Given the description of an element on the screen output the (x, y) to click on. 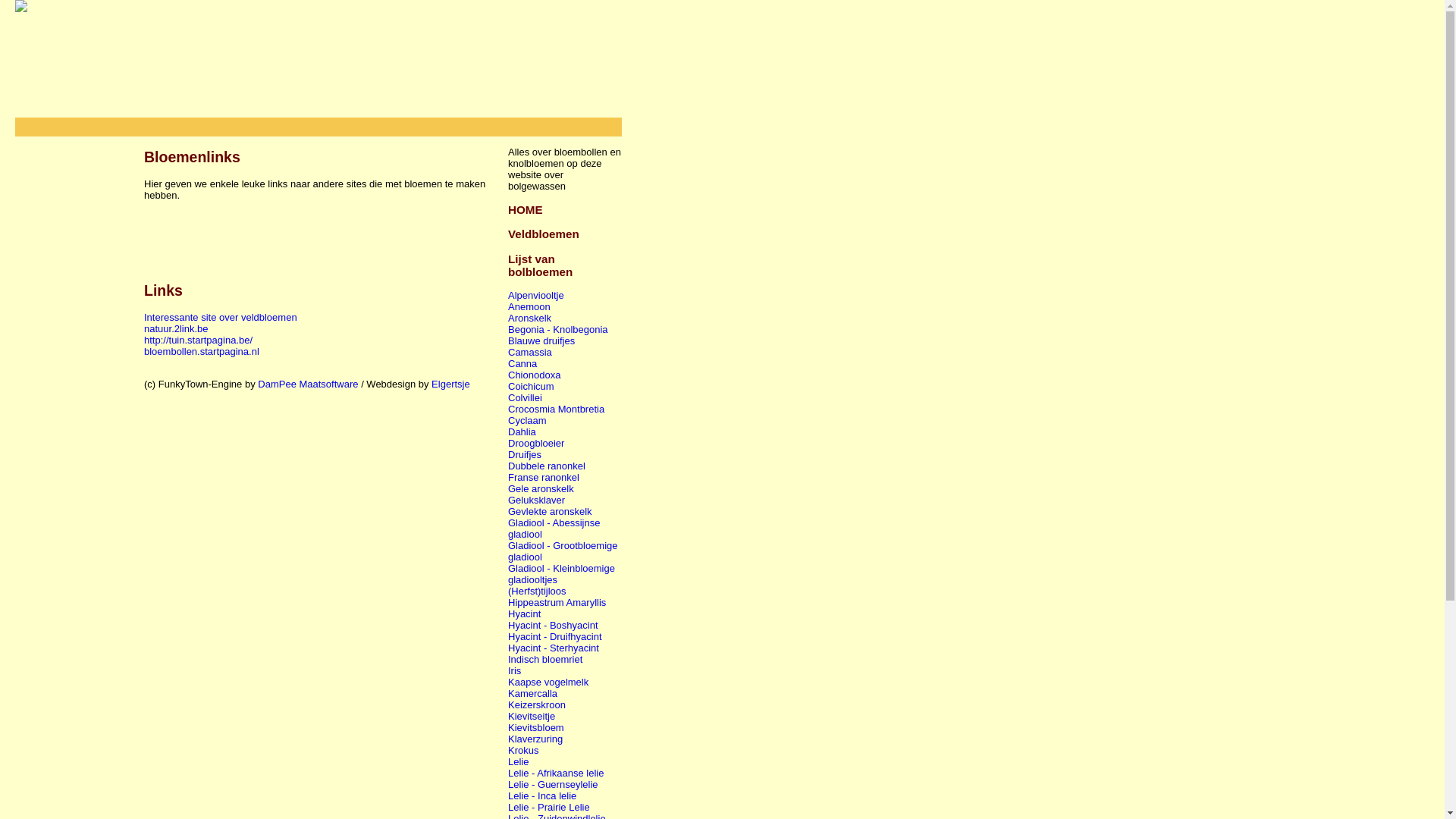
Franse ranonkel Element type: text (543, 477)
natuur.2link.be Element type: text (176, 328)
Elgertsje Element type: text (450, 383)
Klaverzuring Element type: text (535, 738)
Advertisement Element type: hover (321, 234)
Druifjes Element type: text (524, 454)
Gevlekte aronskelk Element type: text (550, 511)
DamPee Maatsoftware Element type: text (307, 383)
Begonia - Knolbegonia Element type: text (558, 329)
http://tuin.startpagina.be/ Element type: text (198, 339)
Keizerskroon Element type: text (536, 704)
Hippeastrum Amaryllis Element type: text (556, 602)
Hyacint - Boshyacint Element type: text (553, 624)
Droogbloeier Element type: text (536, 442)
Gladiool - Abessijnse gladiool Element type: text (553, 528)
Crocosmia Montbretia Element type: text (556, 408)
Gladiool - Kleinbloemige gladiooltjes Element type: text (561, 573)
Dahlia Element type: text (522, 431)
Hyacint - Druifhyacint Element type: text (555, 636)
Canna Element type: text (522, 363)
(Herfst)tijloos Element type: text (537, 590)
HOME Element type: text (525, 209)
Kievitseitje Element type: text (531, 715)
Geluksklaver Element type: text (536, 499)
Kaapse vogelmelk Element type: text (548, 681)
Camassia Element type: text (530, 351)
Krokus Element type: text (523, 750)
Iris Element type: text (514, 670)
Coichicum Element type: text (531, 386)
Blauwe druifjes Element type: text (541, 340)
Advertisement Element type: hover (75, 363)
Lelie - Prairie Lelie Element type: text (548, 806)
Alpenviooltje Element type: text (536, 295)
Interessante site over veldbloemen Element type: text (220, 317)
bloembollen.startpagina.nl Element type: text (201, 351)
Hyacint Element type: text (524, 613)
Veldbloemen Element type: text (543, 233)
Indisch bloemriet Element type: text (545, 659)
Kamercalla Element type: text (532, 693)
Advertisement Element type: hover (318, 122)
Gele aronskelk Element type: text (541, 488)
Aronskelk Element type: text (529, 317)
Lijst van bolbloemen Element type: text (540, 265)
Anemoon Element type: text (529, 306)
Chionodoxa Element type: text (534, 374)
Gladiool - Grootbloemige gladiool Element type: text (563, 550)
Dubbele ranonkel Element type: text (546, 465)
Cyclaam Element type: text (527, 420)
Lelie - Inca lelie Element type: text (542, 795)
Colvillei Element type: text (525, 397)
Lelie - Guernseylelie Element type: text (553, 784)
Kievitsbloem Element type: text (536, 727)
Lelie Element type: text (518, 761)
Lelie - Afrikaanse lelie Element type: text (555, 772)
Hyacint - Sterhyacint Element type: text (553, 647)
